Given the description of an element on the screen output the (x, y) to click on. 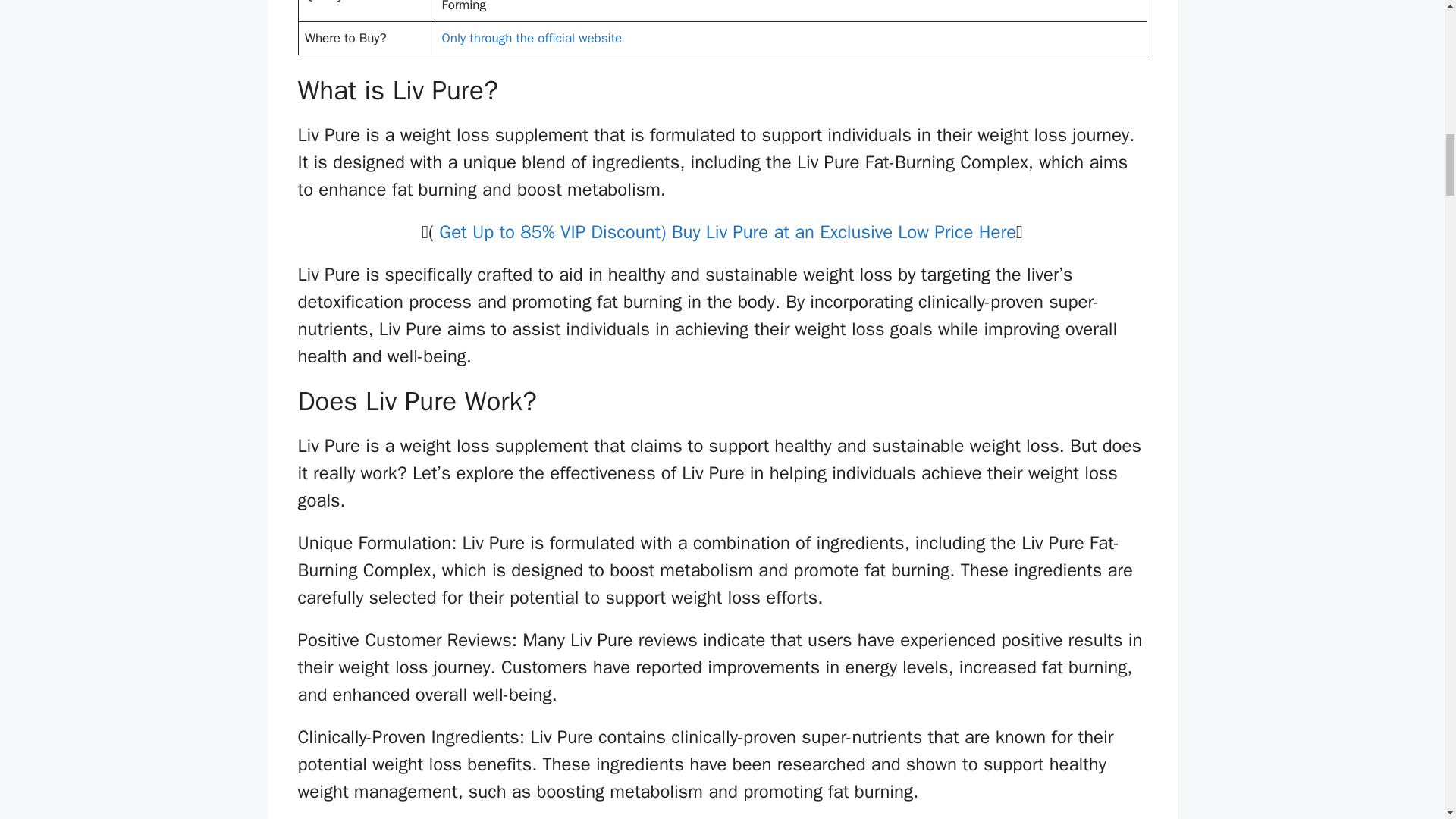
Only through the official website (532, 37)
